Given the description of an element on the screen output the (x, y) to click on. 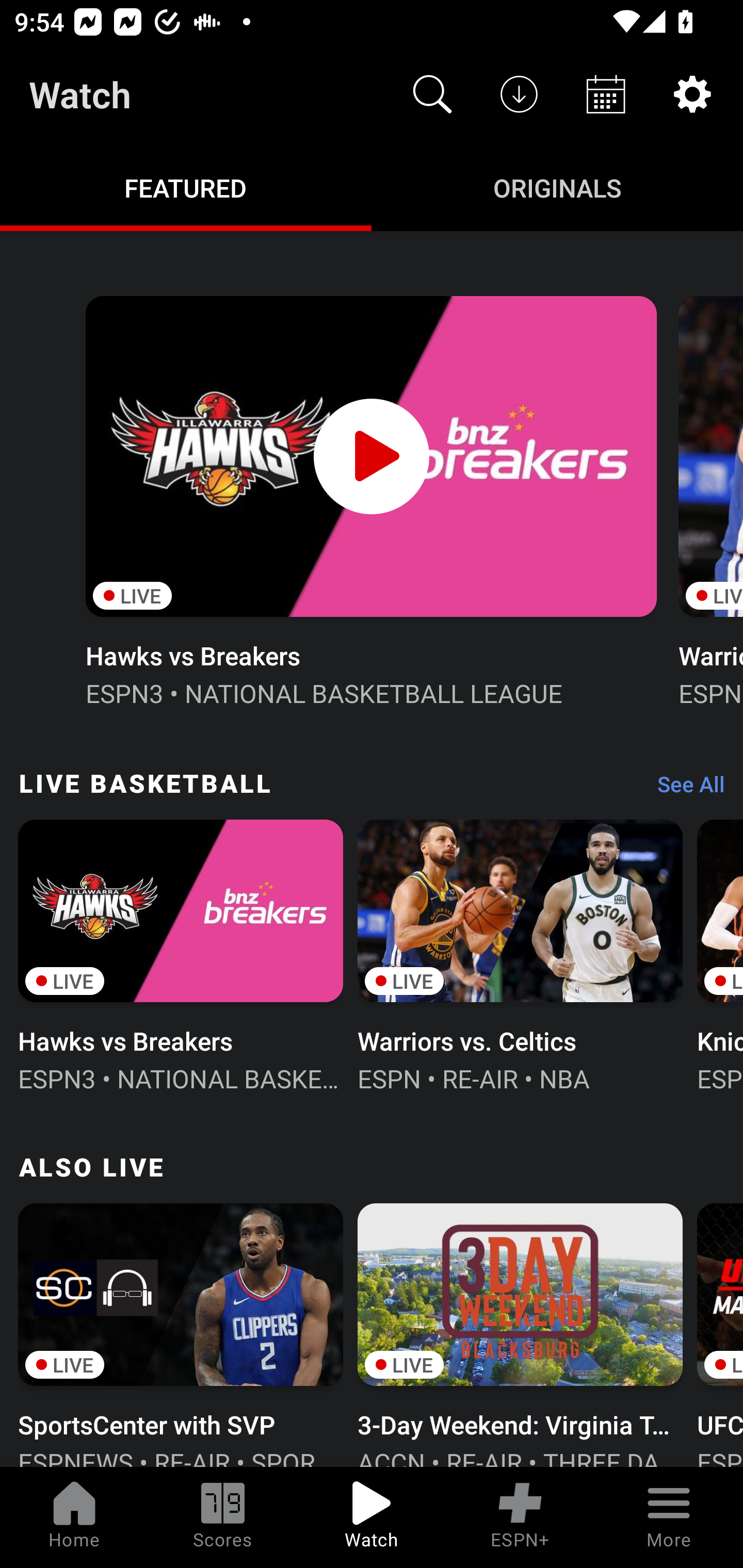
Search (432, 93)
Downloads (518, 93)
Schedule (605, 93)
Settings (692, 93)
Originals ORIGINALS (557, 187)
See All (683, 788)
LIVE Warriors vs. Celtics ESPN • RE-AIR • NBA (519, 954)
Home (74, 1517)
Scores (222, 1517)
ESPN+ (519, 1517)
More (668, 1517)
